Given the description of an element on the screen output the (x, y) to click on. 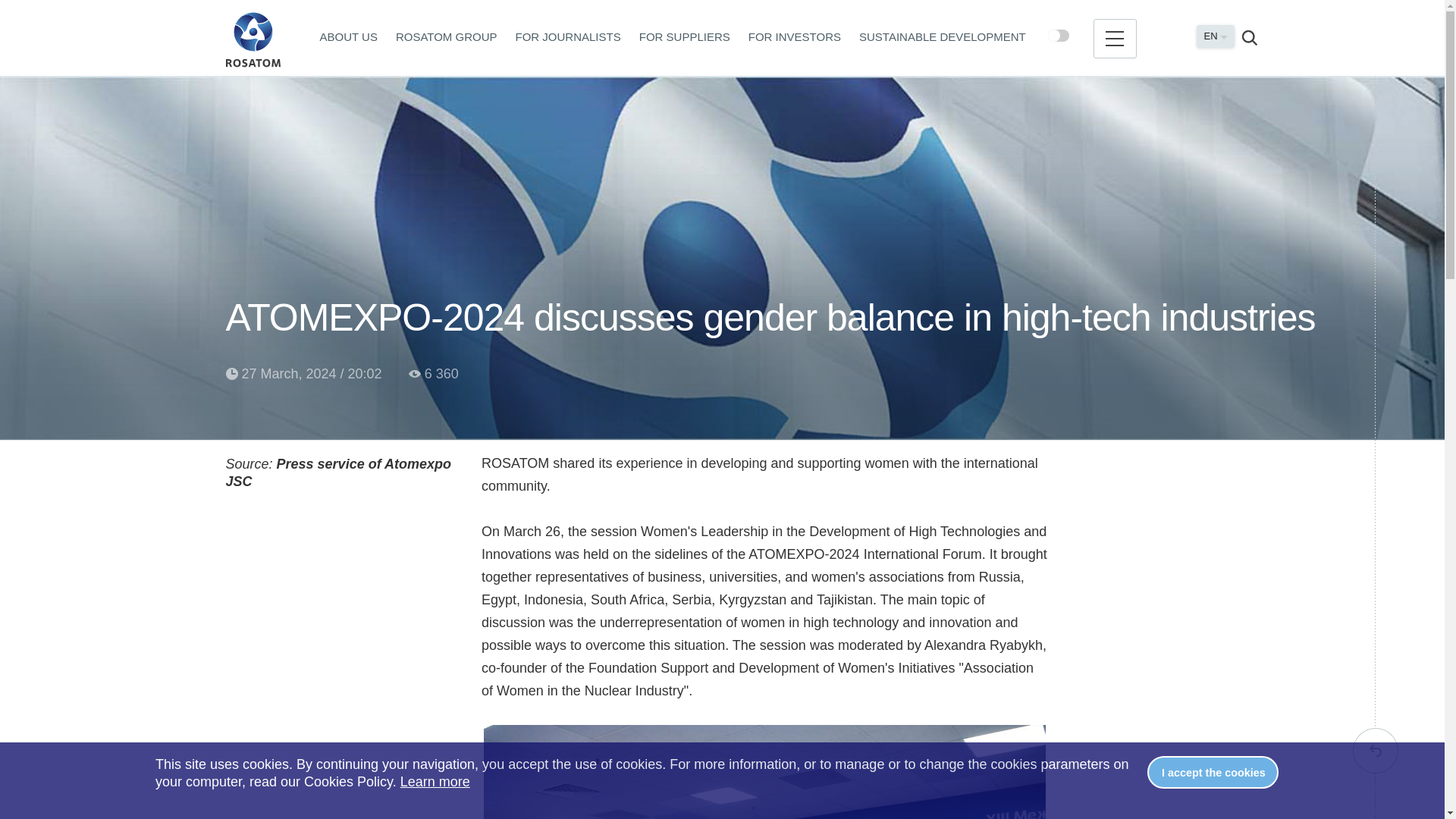
Learn more (435, 780)
expo.PNG (764, 771)
